Given the description of an element on the screen output the (x, y) to click on. 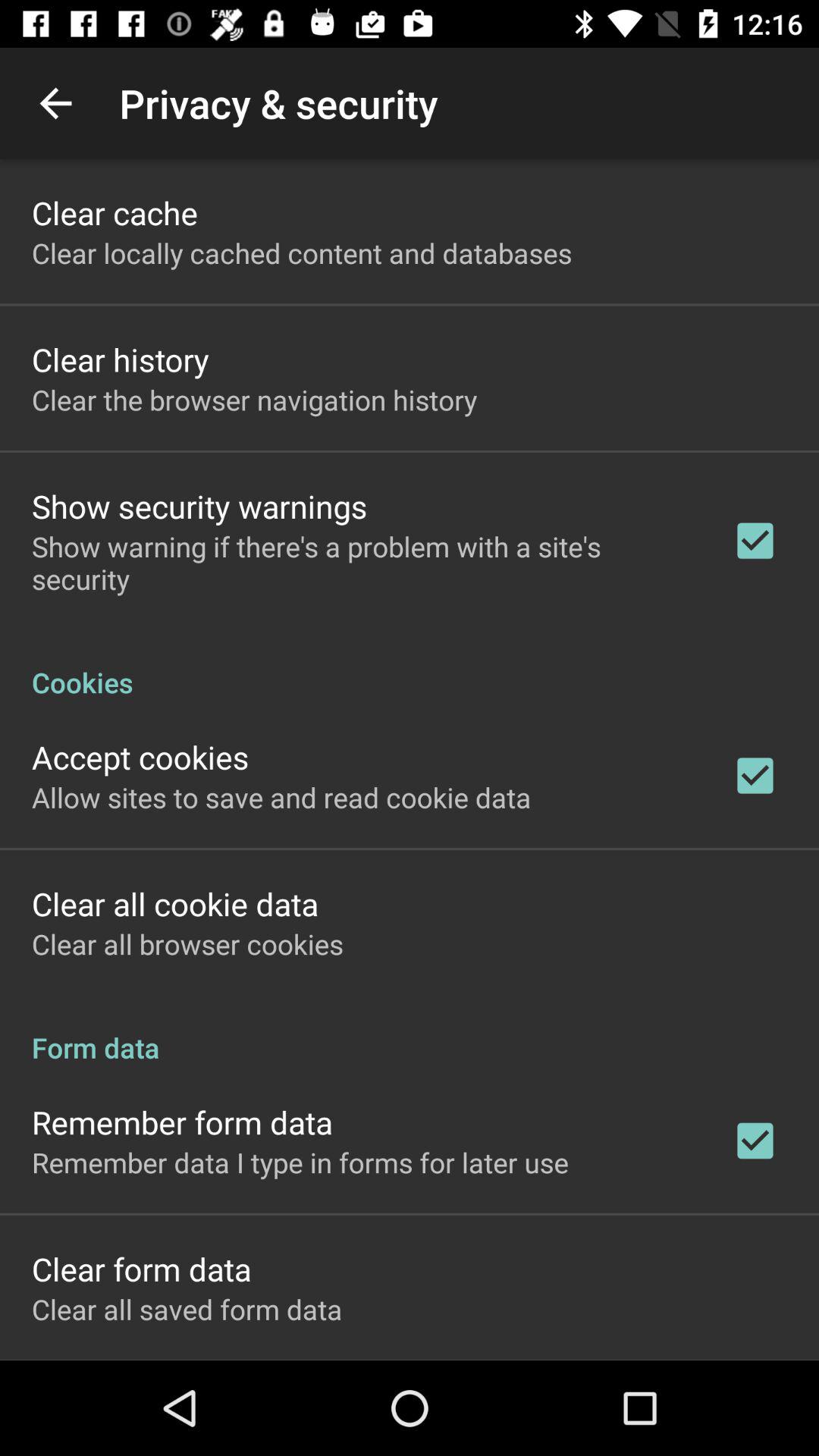
select the icon below the cookies icon (140, 756)
